Given the description of an element on the screen output the (x, y) to click on. 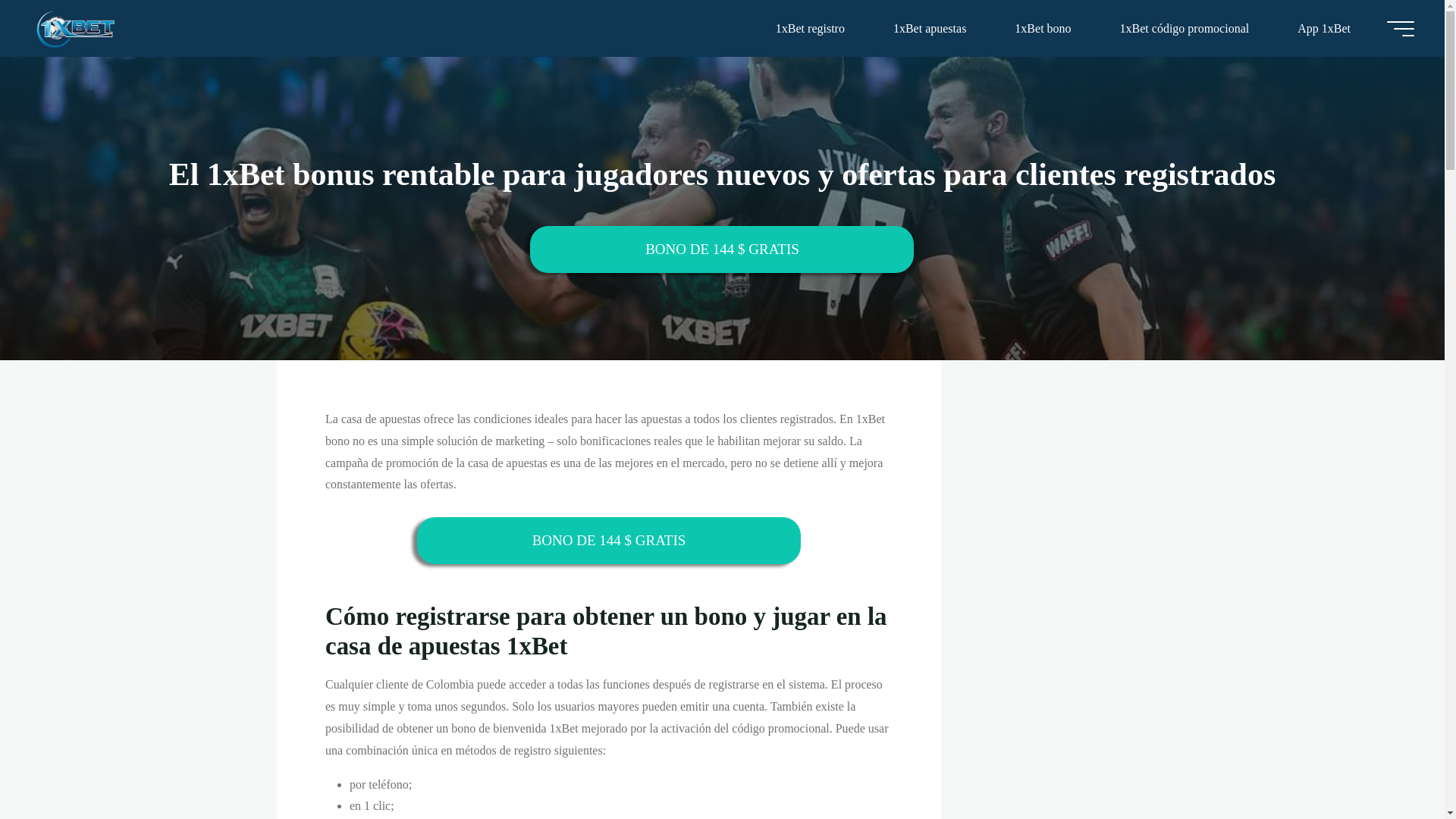
1xBet apuestas Element type: text (929, 28)
App 1xBet Element type: text (1323, 28)
1xBet registro Element type: text (810, 28)
1xBet bono Element type: text (1042, 28)
BONO DE 144 $ GRATIS Element type: text (721, 249)
BONO DE 144 $ GRATIS Element type: text (608, 540)
